Given the description of an element on the screen output the (x, y) to click on. 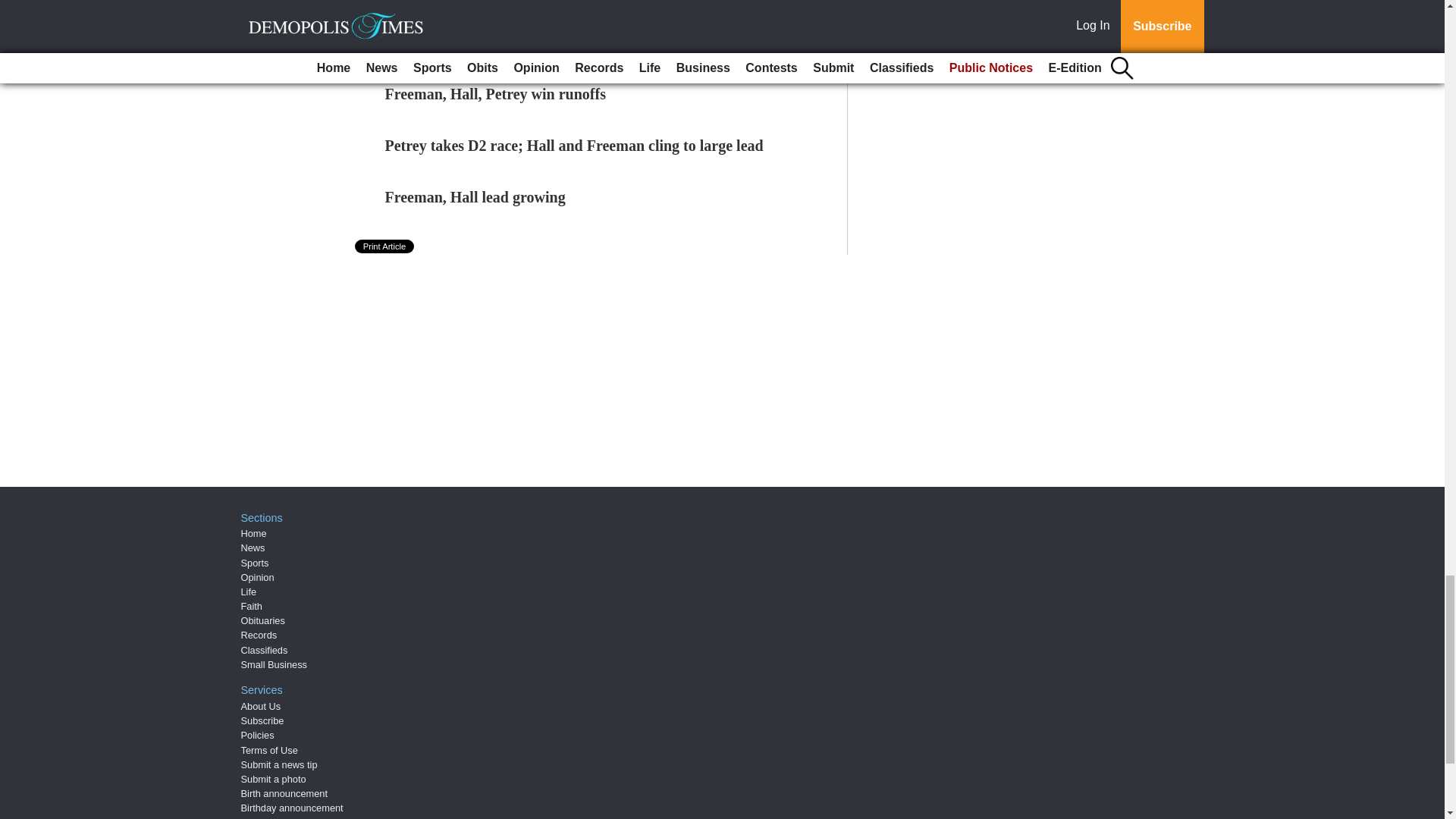
Petrey takes D2 race; Hall and Freeman cling to large lead (573, 145)
Freeman, Hall lead growing (475, 197)
Freeman, Hall, Petrey win runoffs (495, 93)
Freeman, Hall, Petrey win runoffs (495, 93)
Print Article (384, 246)
Freeman, Hall lead growing (475, 197)
Petrey takes D2 race; Hall and Freeman cling to large lead (573, 145)
